Given the description of an element on the screen output the (x, y) to click on. 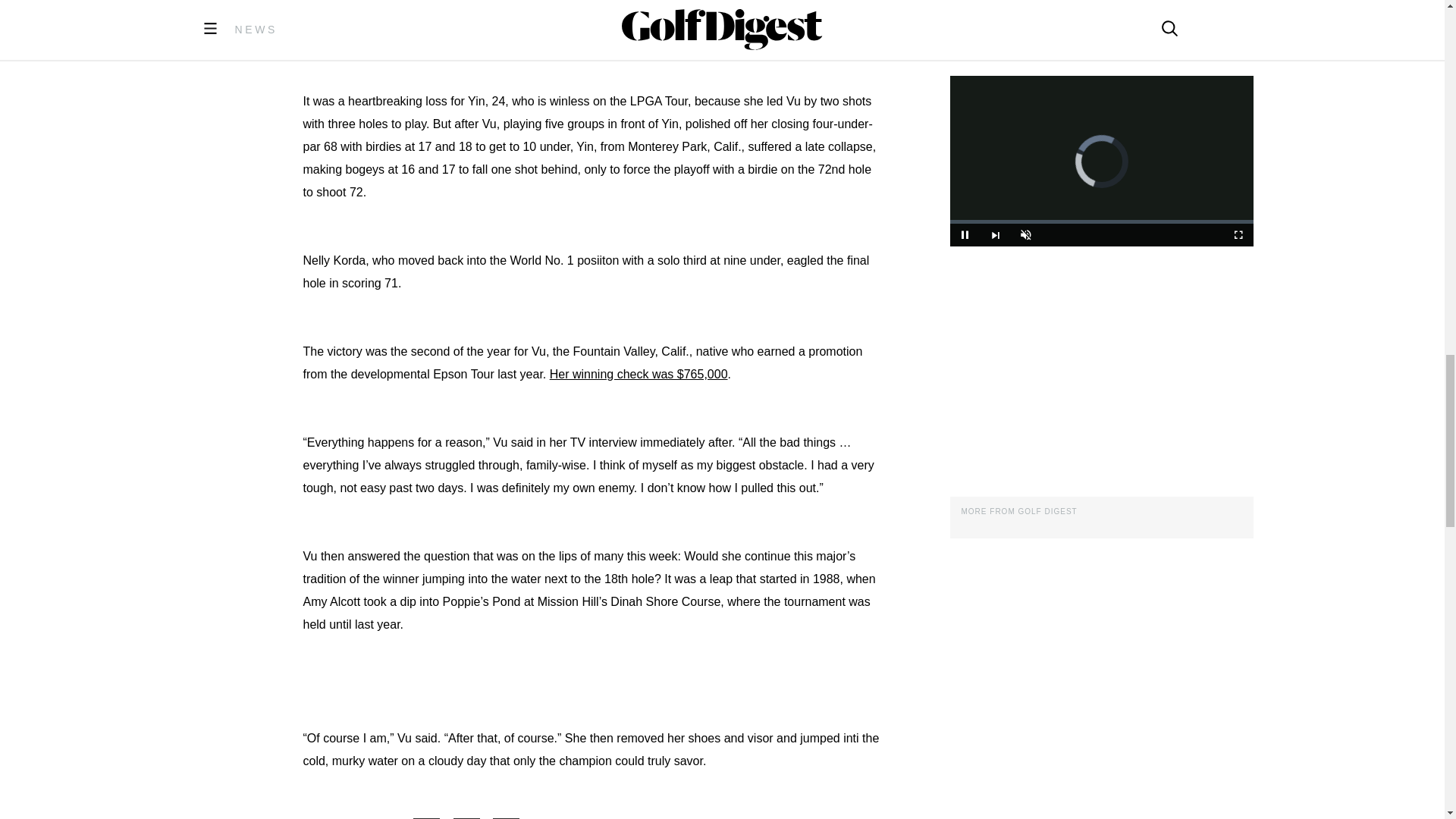
Share on Twitter (472, 818)
